Given the description of an element on the screen output the (x, y) to click on. 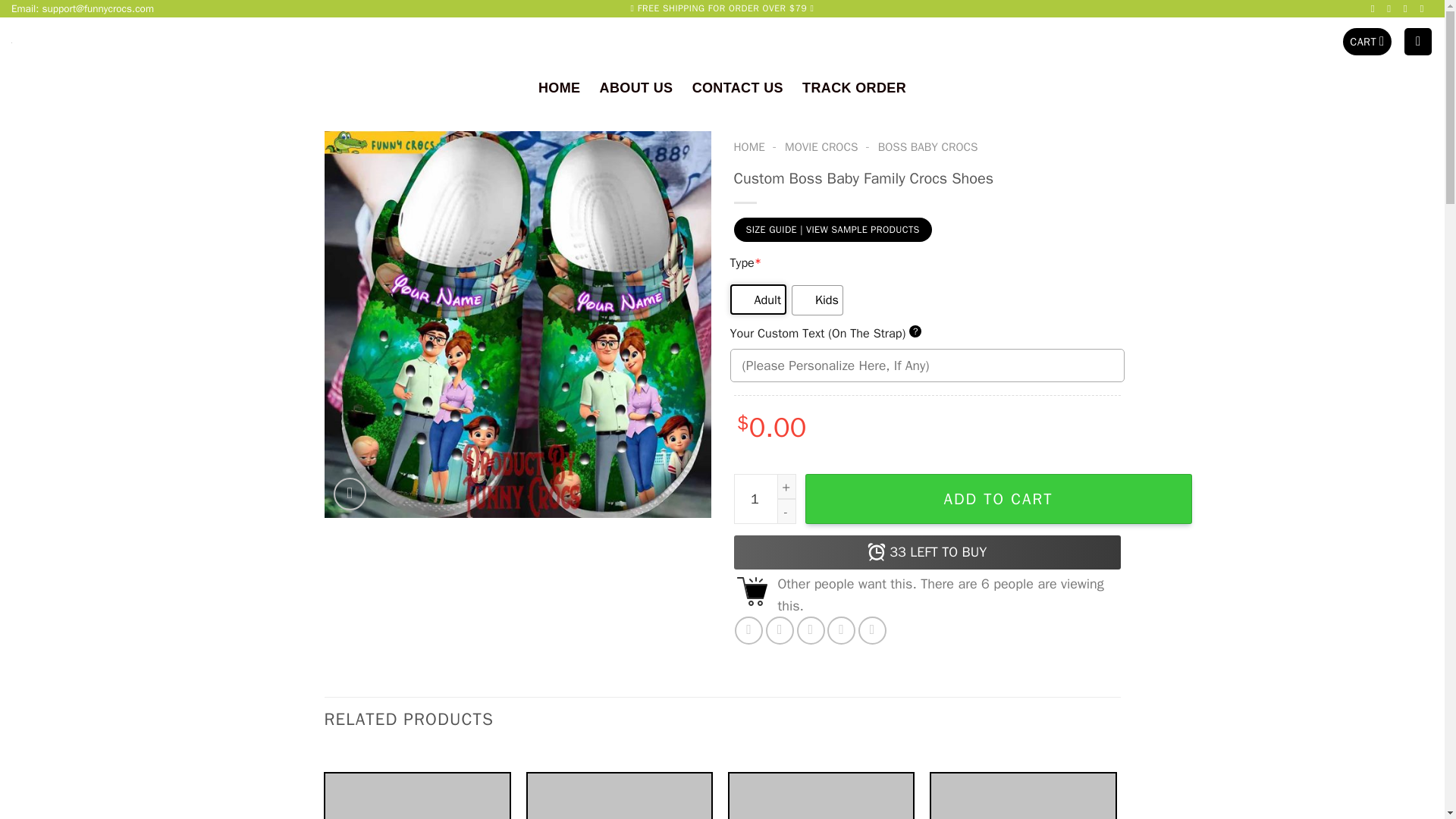
Send us an email (1392, 8)
1 (764, 499)
ADD TO CART (998, 499)
BOSS BABY CROCS (927, 146)
HOME (558, 87)
Follow on LinkedIn (1424, 8)
Zoom (349, 494)
Follow on Facebook (1376, 8)
TRACK ORDER (853, 87)
